Given the description of an element on the screen output the (x, y) to click on. 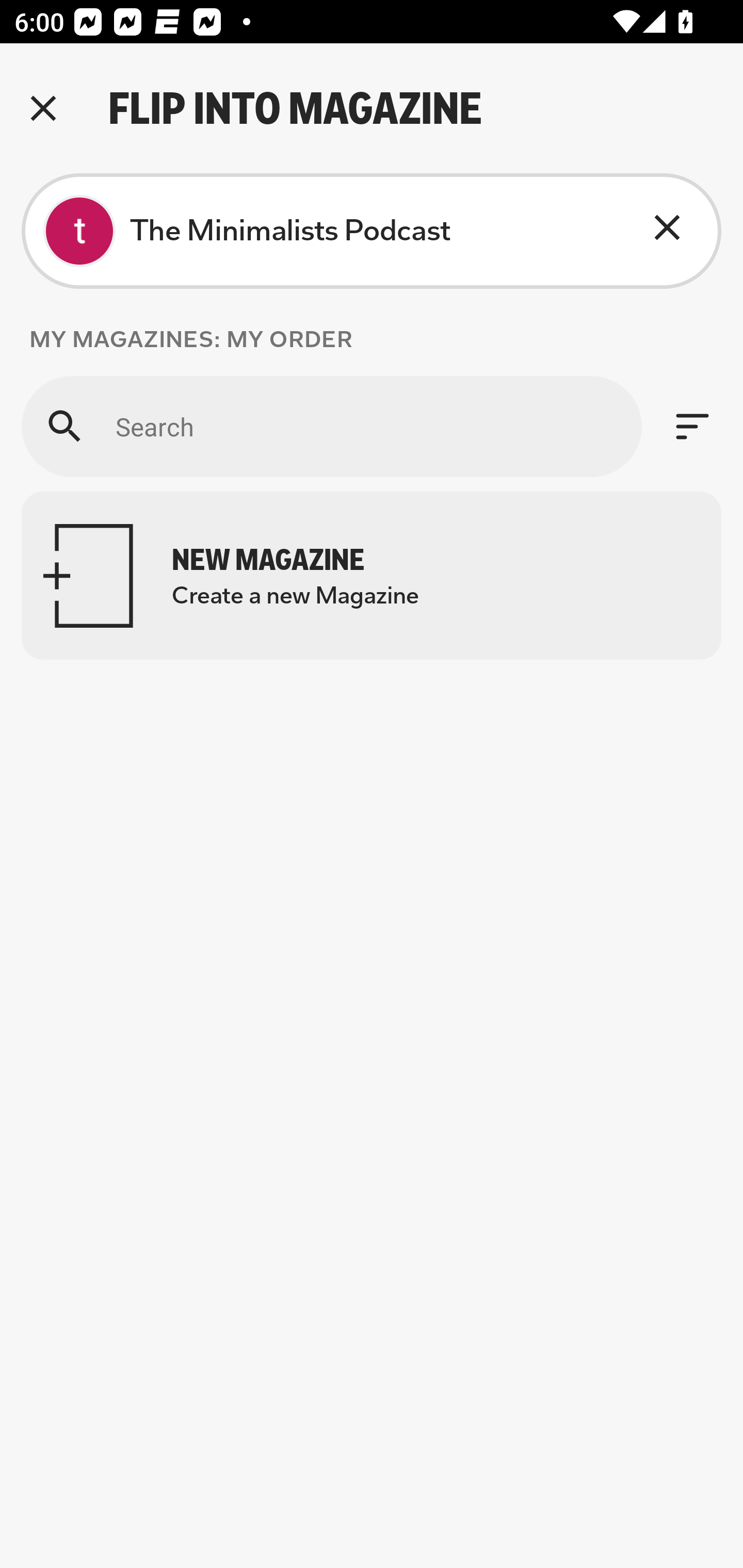
test appium The Minimalists Podcast
 (371, 231)
Search (331, 426)
NEW MAGAZINE Create a new Magazine (371, 575)
